Given the description of an element on the screen output the (x, y) to click on. 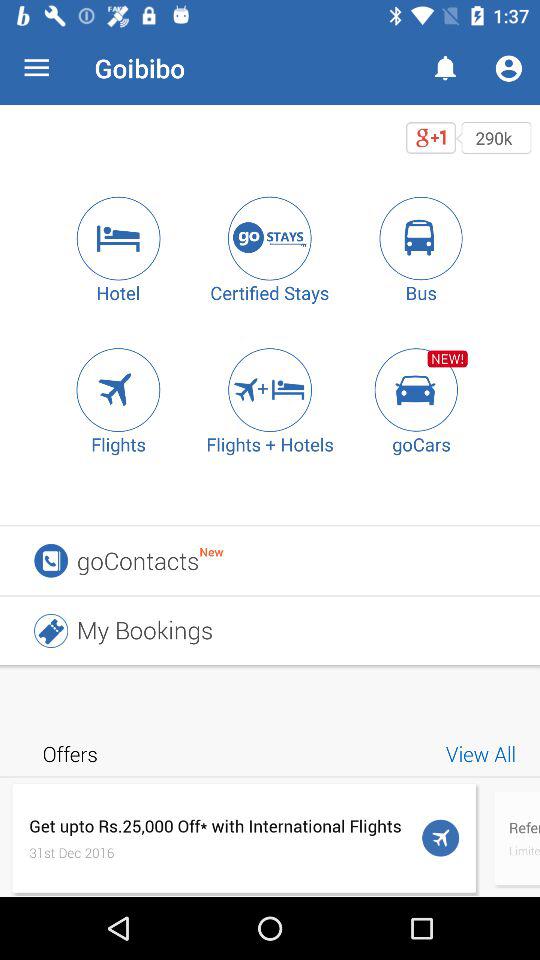
go to hotels (118, 238)
